Given the description of an element on the screen output the (x, y) to click on. 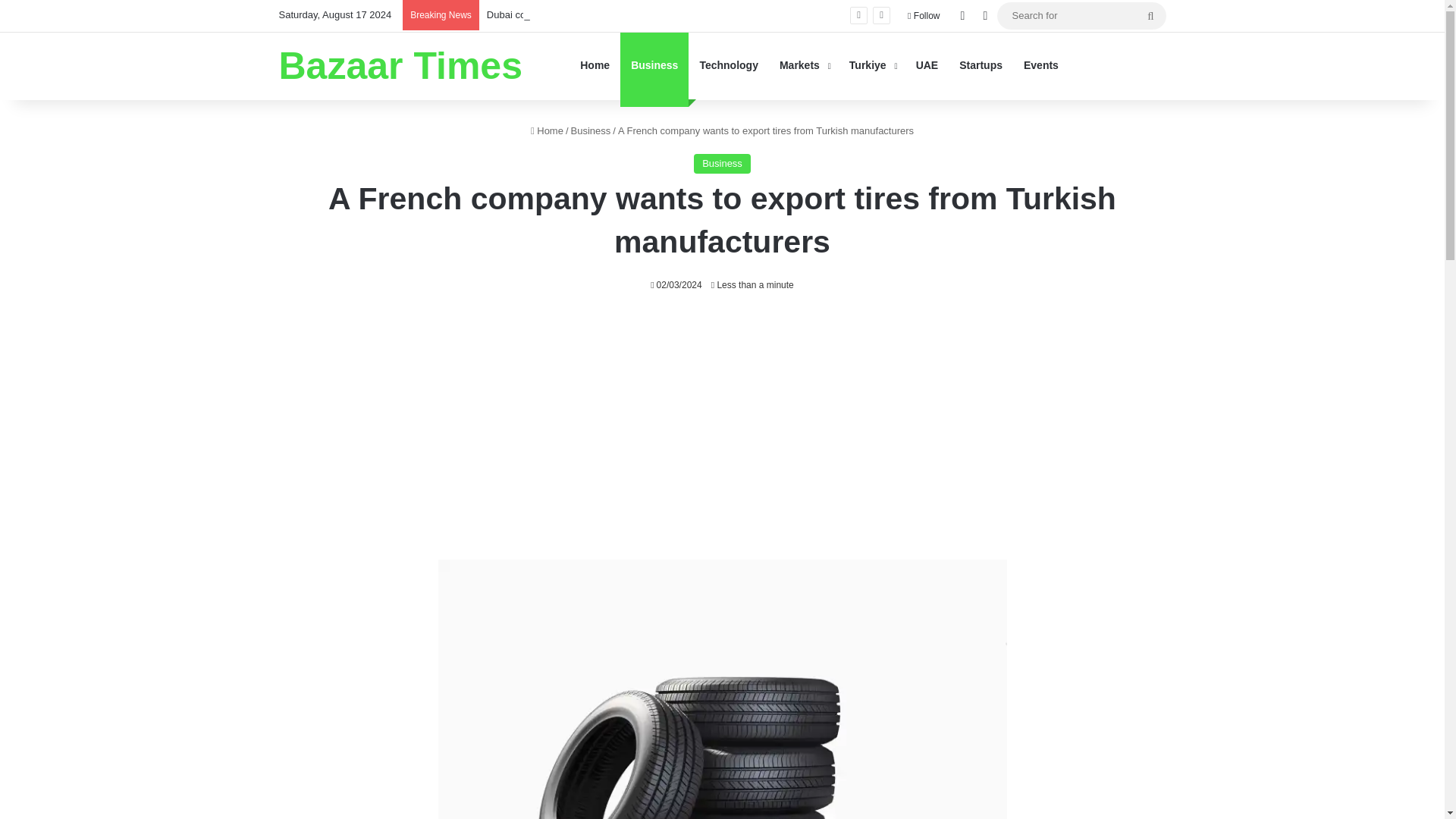
Search for (1080, 15)
Follow (923, 15)
Bazaar Times (400, 65)
Markets (803, 65)
Dubai court recognizes crypto as a valid salary payment (608, 14)
Startups (981, 65)
Business (590, 130)
Search for (1150, 15)
Technology (728, 65)
